Given the description of an element on the screen output the (x, y) to click on. 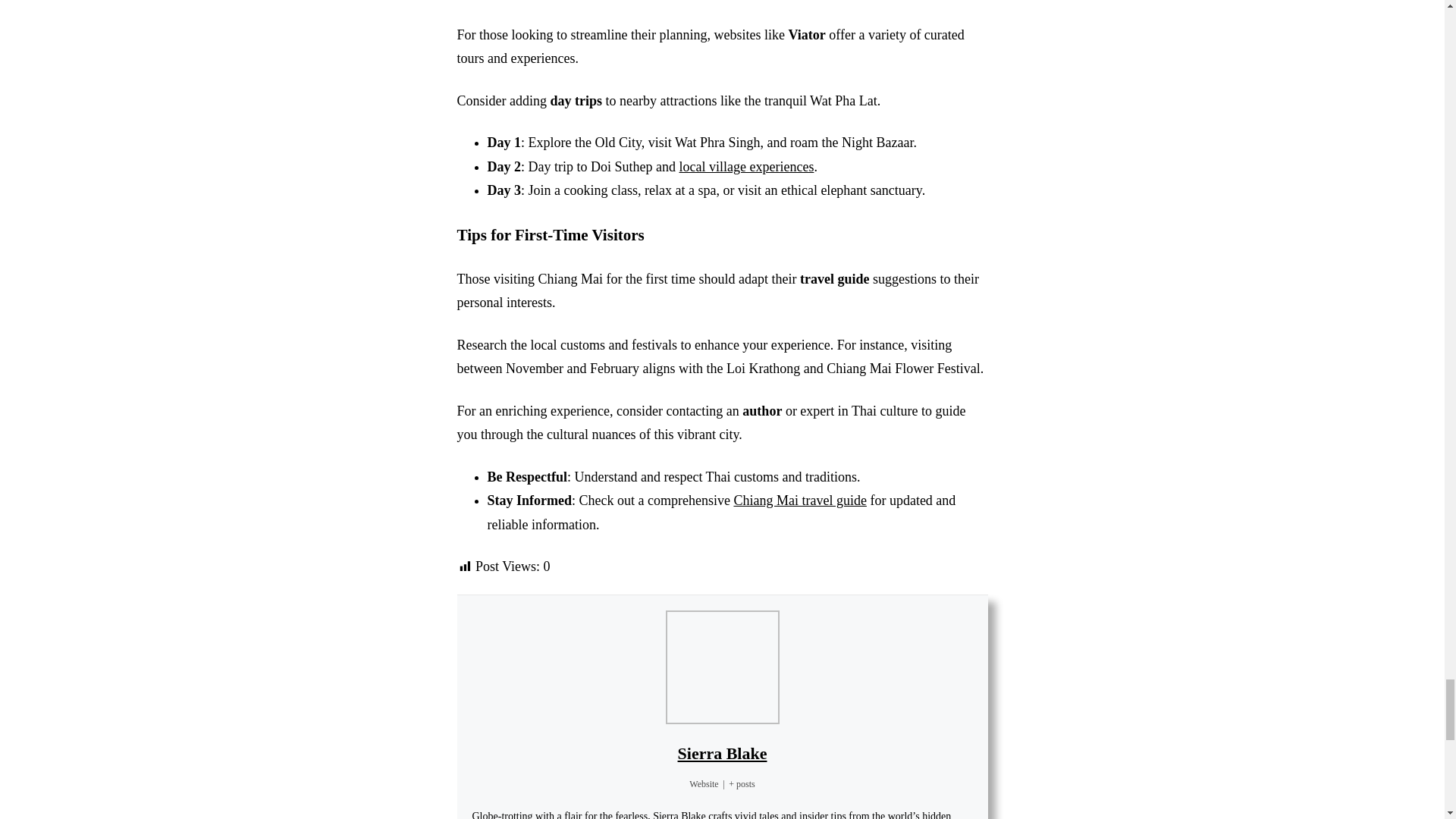
Website (702, 783)
Chiang Mai travel guide (799, 500)
local village experiences (745, 166)
Sierra Blake (722, 752)
